Given the description of an element on the screen output the (x, y) to click on. 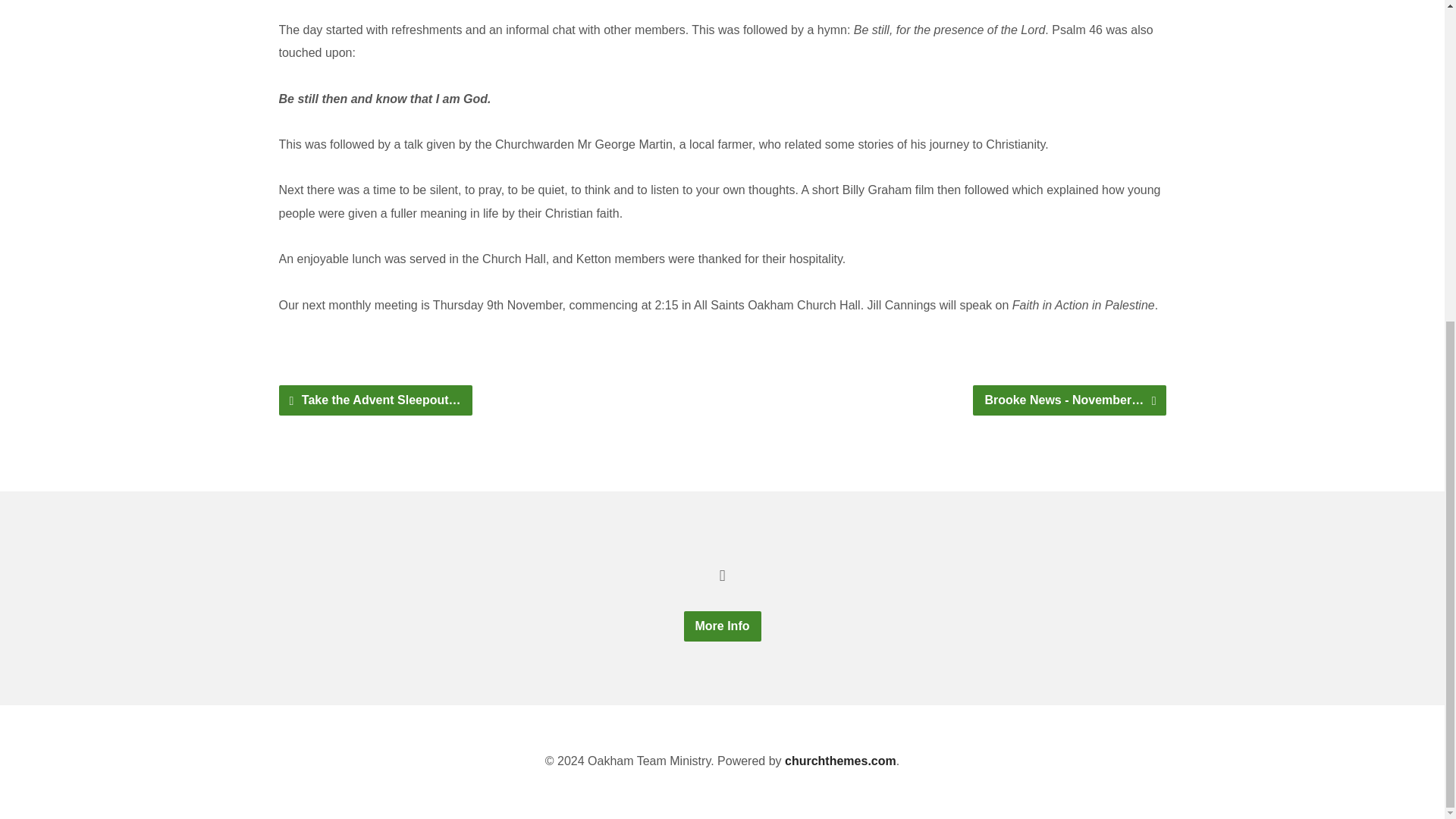
Facebook (722, 574)
